Given the description of an element on the screen output the (x, y) to click on. 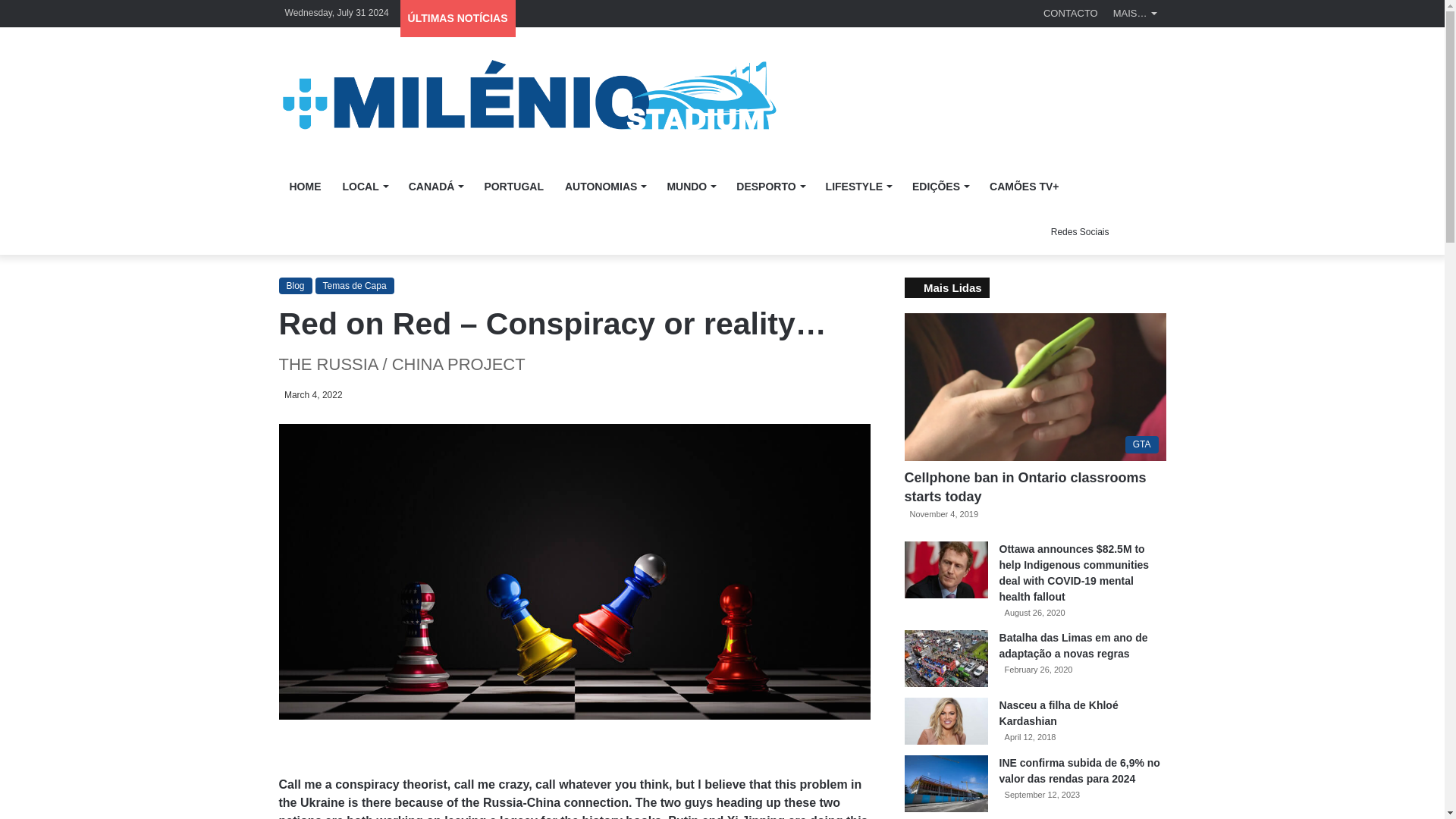
LOCAL (364, 186)
HOME (305, 186)
AUTONOMIAS (605, 186)
Milenio Stadium (528, 95)
CONTACTO (1070, 13)
MUNDO (690, 186)
PORTUGAL (513, 186)
DESPORTO (769, 186)
